Given the description of an element on the screen output the (x, y) to click on. 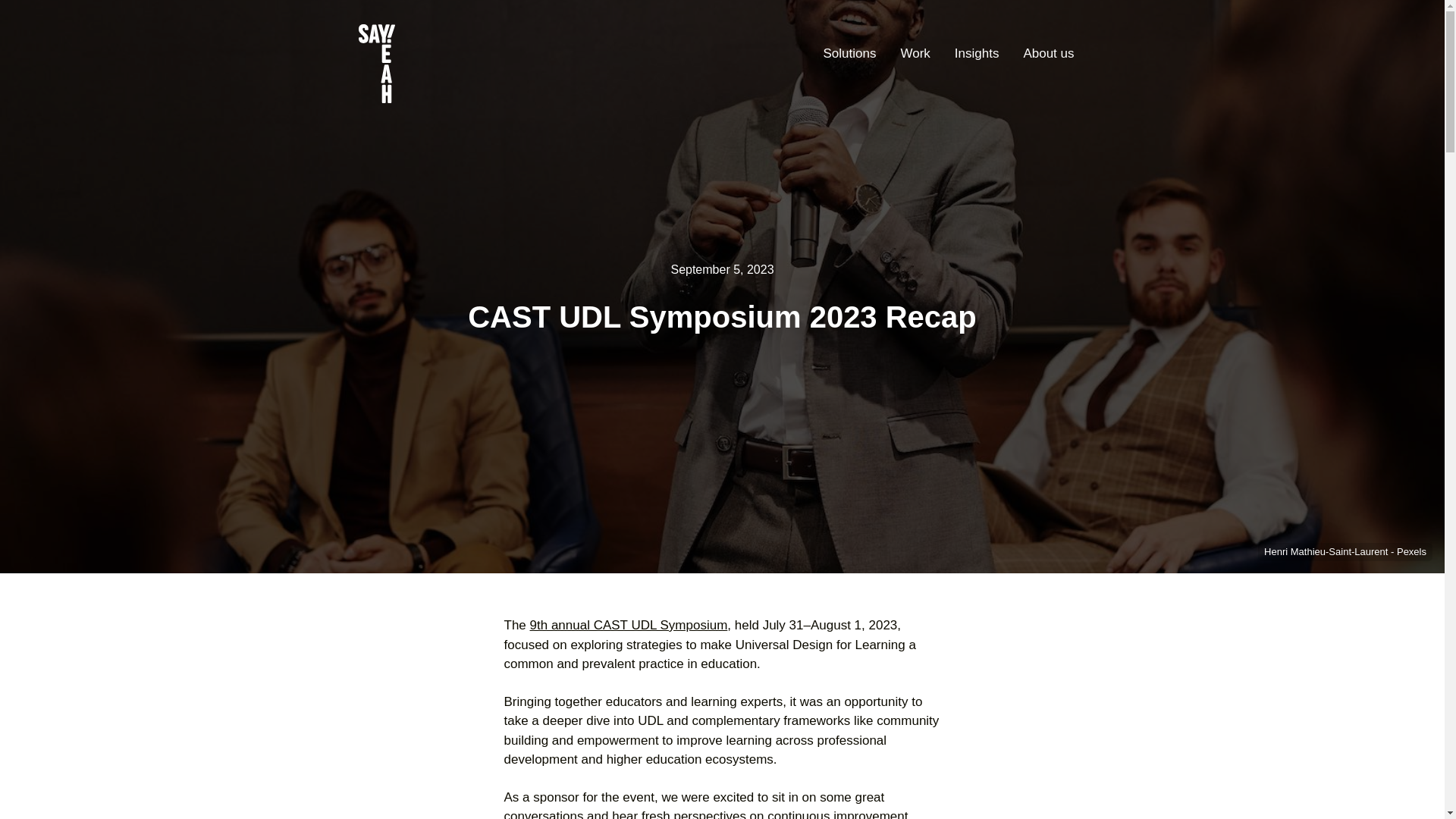
About us (1048, 54)
Work (914, 54)
Henri Mathieu-Saint-Laurent (1326, 551)
9th annual CAST UDL Symposium (628, 625)
Insights (976, 54)
Solutions (850, 54)
